Given the description of an element on the screen output the (x, y) to click on. 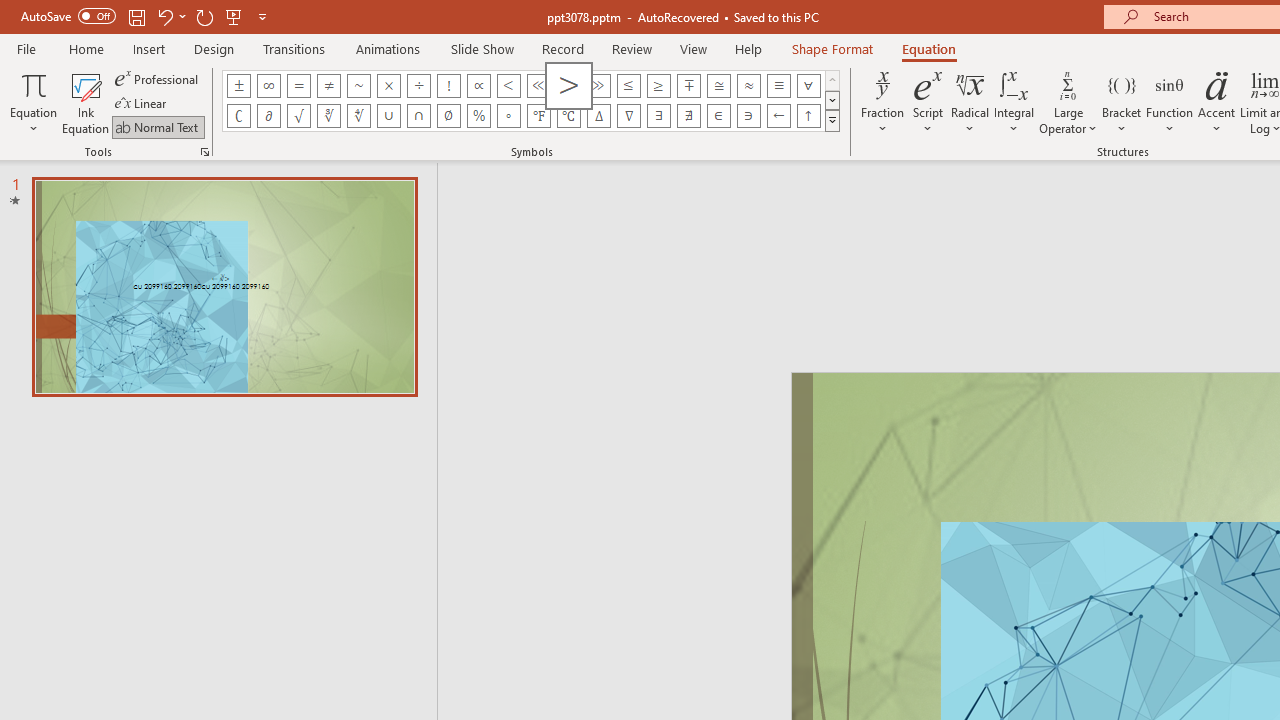
Normal Text (158, 126)
Equation Symbol Infinity (268, 85)
Equation Symbol Element Of (718, 115)
Equation Symbol Nabla (628, 115)
Equation Symbol Approximately (358, 85)
Equation Symbol Increment (598, 115)
Equation Symbol Radical Sign (298, 115)
Equation Symbol Degrees Celsius (568, 115)
Equation Symbol Degrees (508, 115)
Ink Equation (86, 102)
Bracket (1121, 102)
Equation Symbol Much Greater Than (598, 85)
Equation Symbol For All (808, 85)
